Given the description of an element on the screen output the (x, y) to click on. 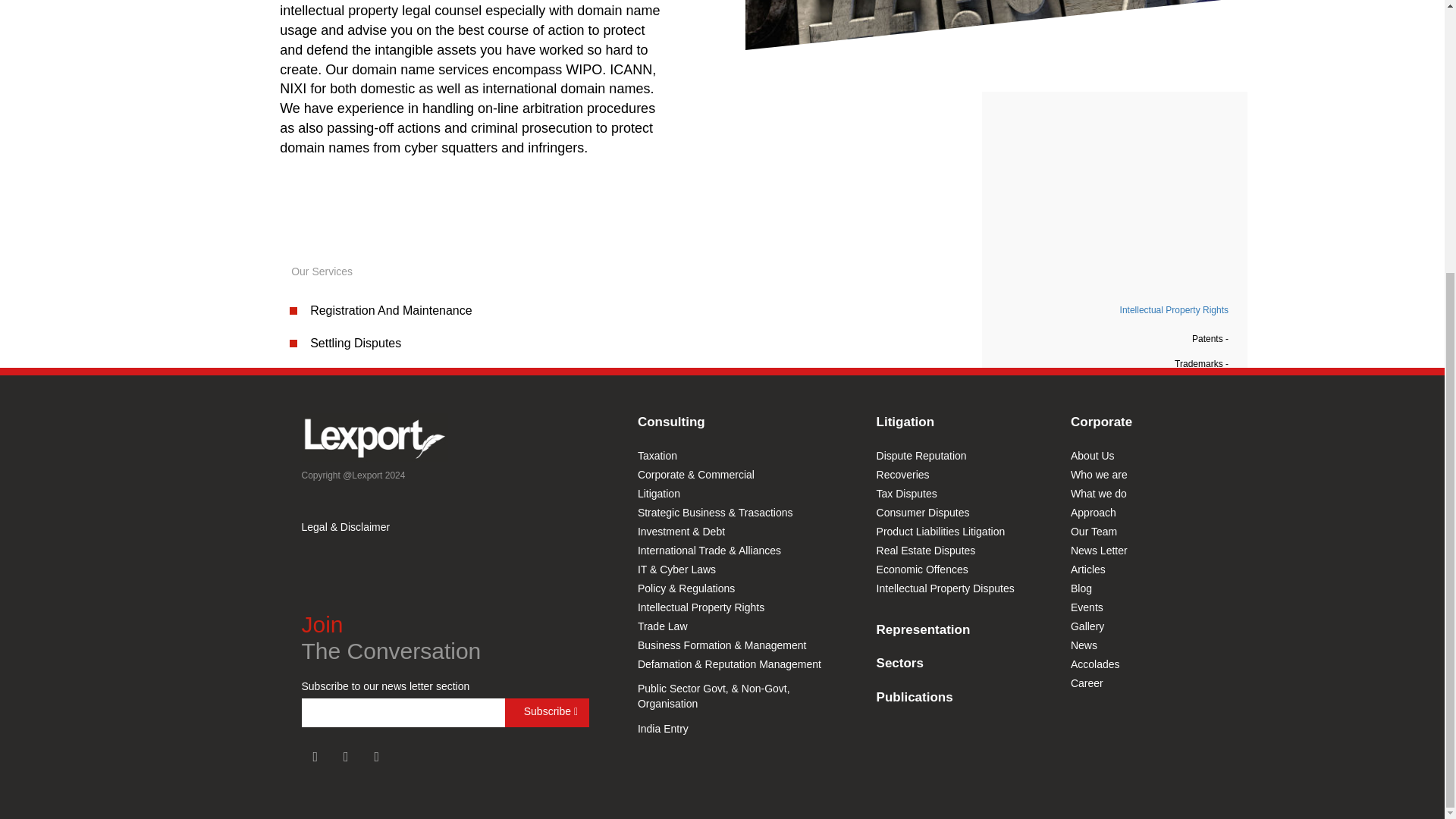
linkedin (376, 756)
twitter (345, 756)
facebook (315, 756)
